Given the description of an element on the screen output the (x, y) to click on. 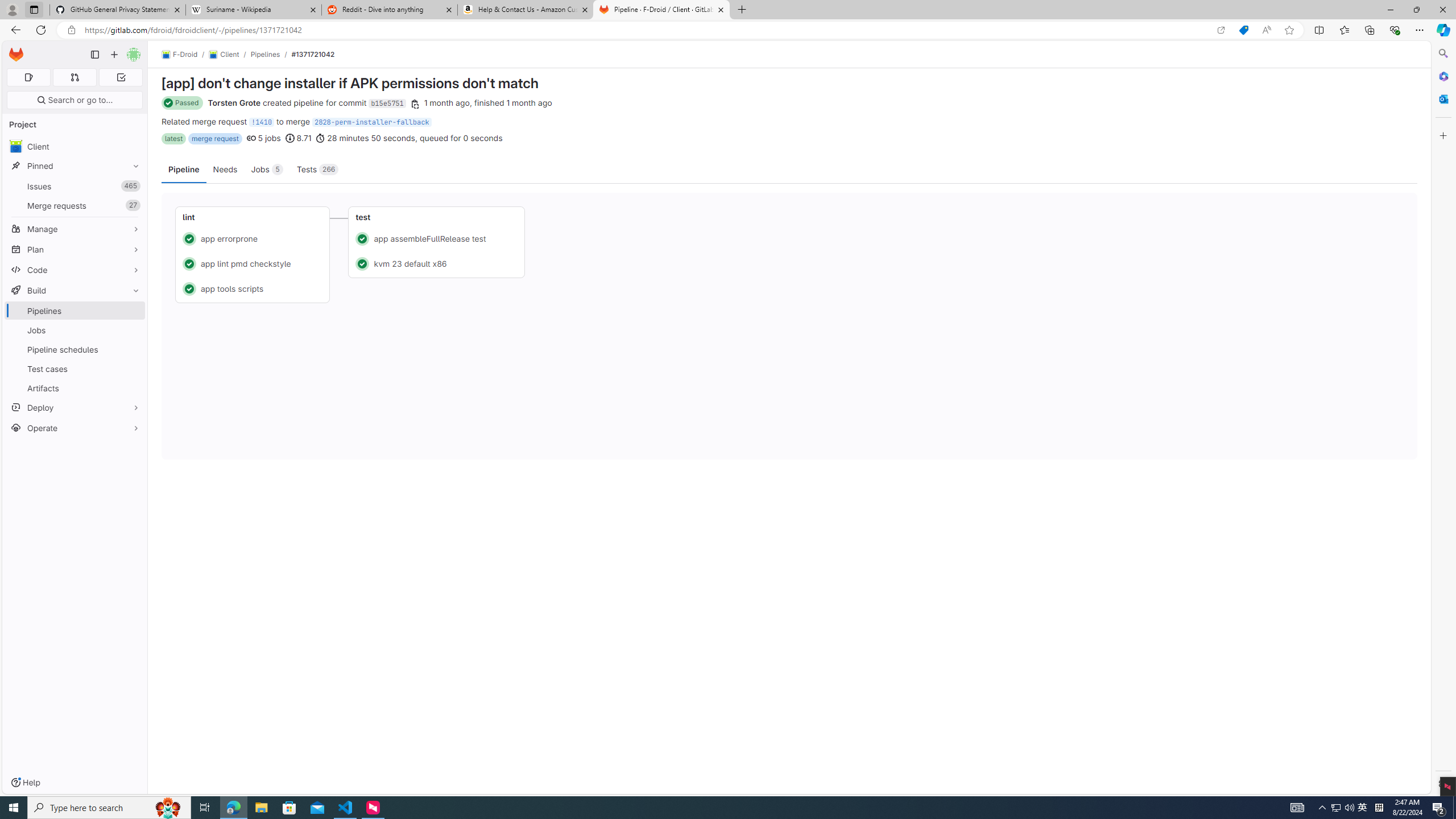
Skip to main content (13, 49)
Help (25, 782)
Unpin Issues (132, 186)
Jobs 5 (266, 169)
Pipelines (265, 53)
Status: Passed kvm 23 default x86 (436, 263)
Merge requests27 (74, 205)
Status: Passed (182, 102)
Torsten Grote (234, 102)
avatar Client (74, 145)
Client (74, 145)
Status: Passed app lint pmd checkstyle (252, 263)
Deploy (74, 407)
To-Do list 0 (120, 76)
